Given the description of an element on the screen output the (x, y) to click on. 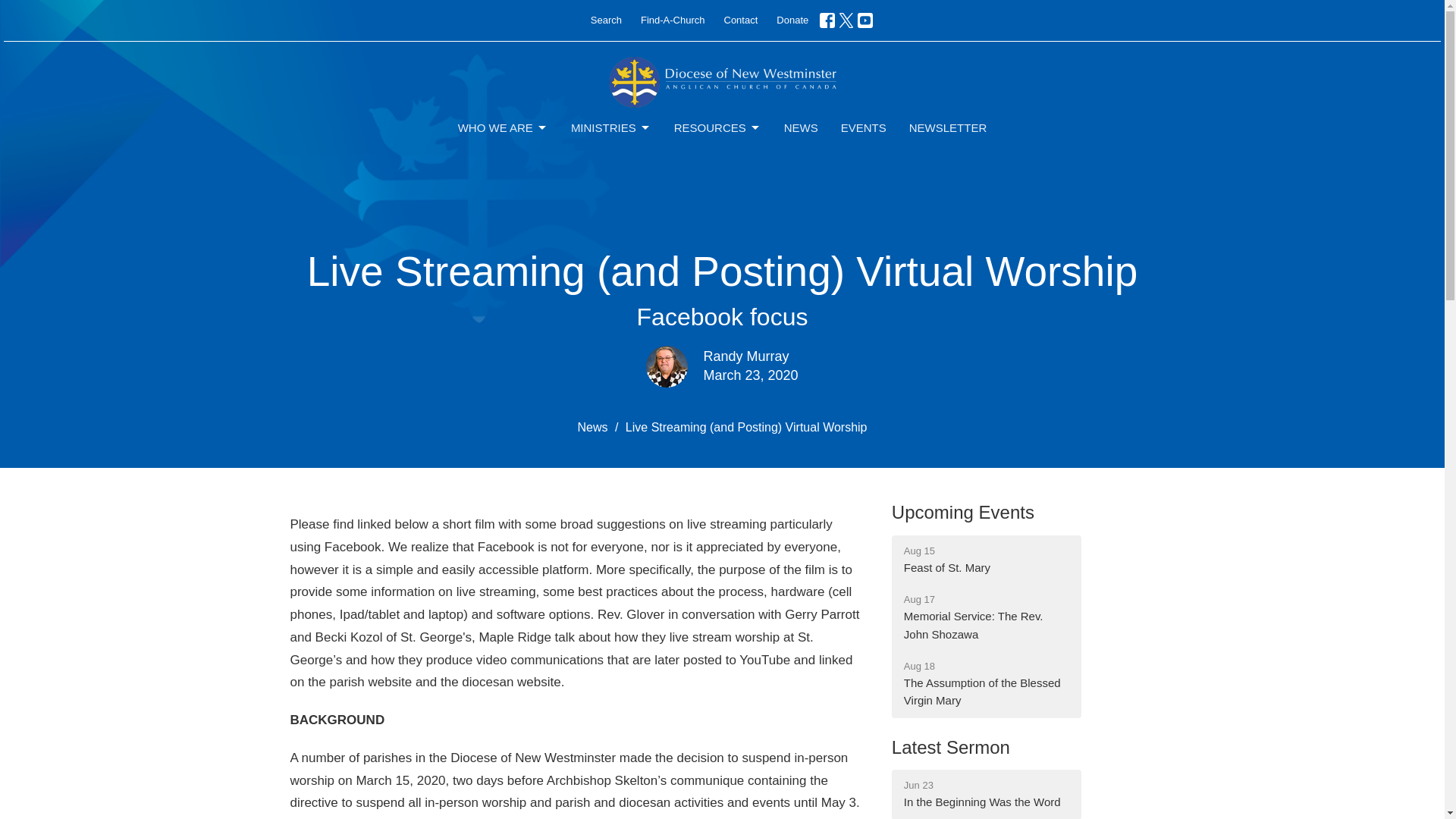
RESOURCES (717, 127)
Search (605, 20)
Contact (740, 20)
Donate (791, 20)
MINISTRIES (610, 127)
WHO WE ARE (503, 127)
NEWSLETTER (947, 127)
News (591, 427)
NEWS (801, 127)
EVENTS (863, 127)
